Given the description of an element on the screen output the (x, y) to click on. 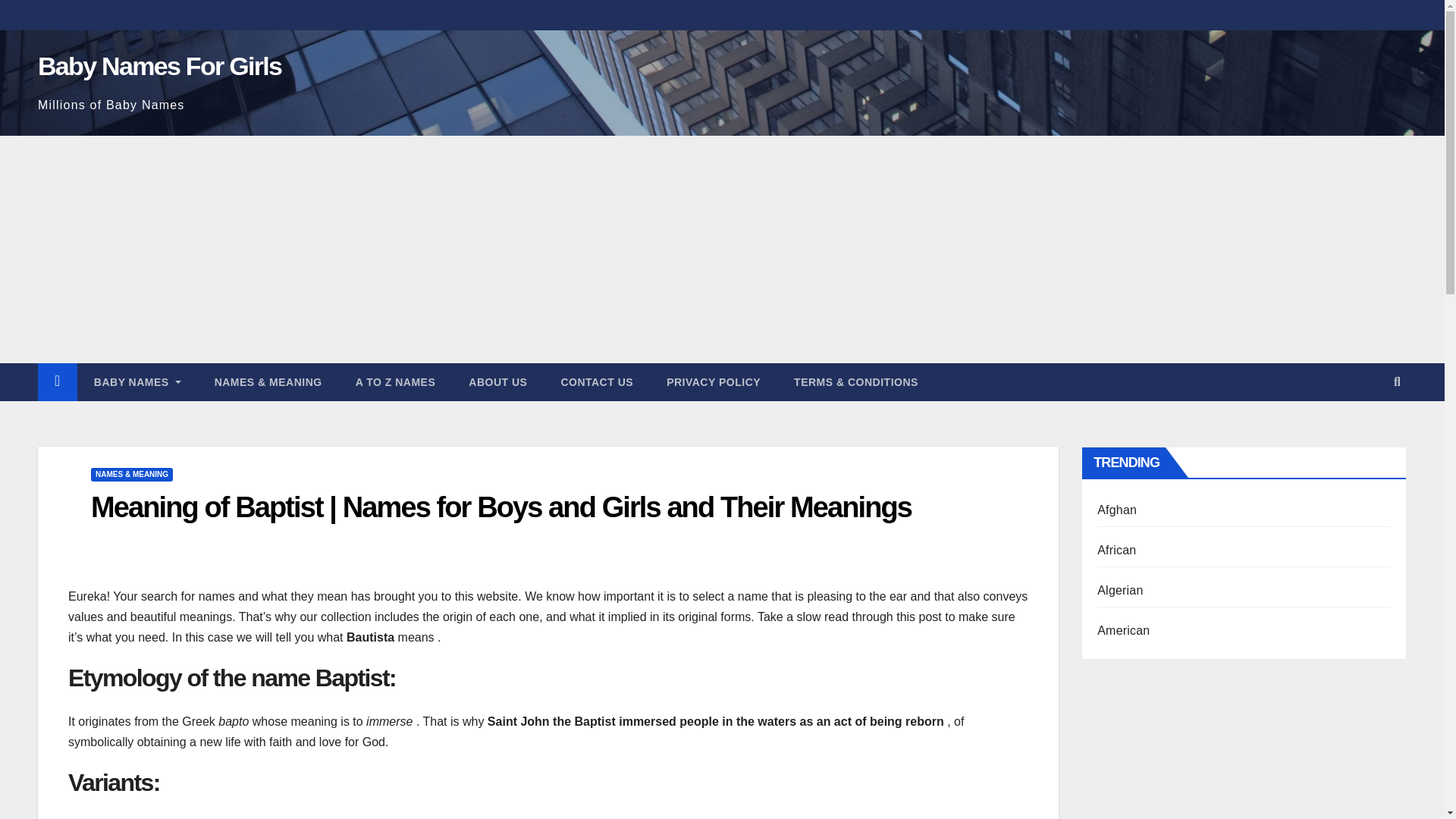
Afghan (1117, 509)
BABY NAMES (137, 382)
Baby Names (137, 382)
Contact Us (596, 382)
Baby Names For Girls (159, 65)
ABOUT US (497, 382)
CONTACT US (596, 382)
About Us (497, 382)
Privacy Policy (713, 382)
African (1116, 549)
American (1123, 630)
A To Z Names (395, 382)
A TO Z NAMES (395, 382)
Algerian (1119, 590)
PRIVACY POLICY (713, 382)
